Given the description of an element on the screen output the (x, y) to click on. 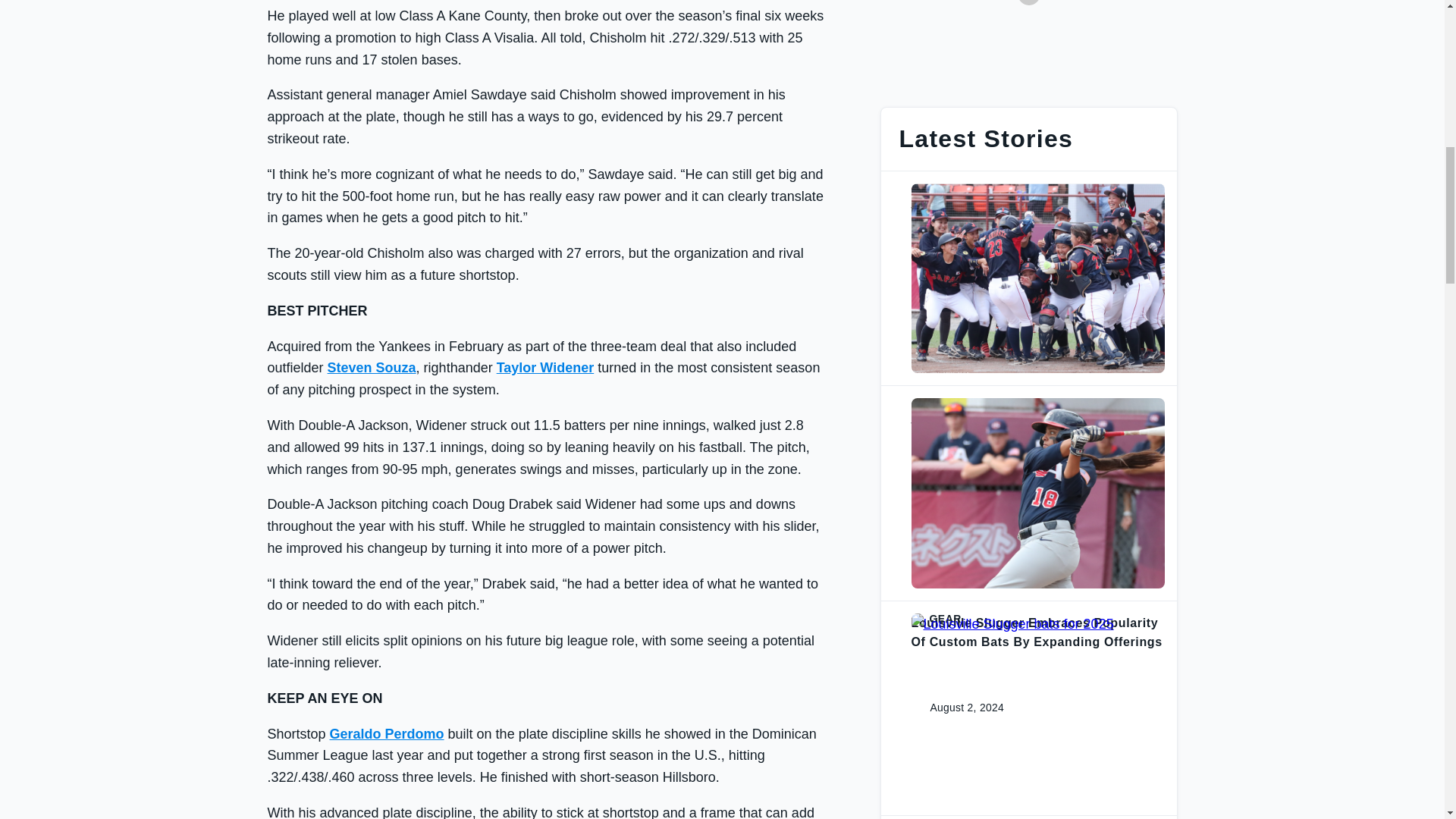
Post category (1037, 618)
Post date (954, 278)
Post date (954, 707)
Post category (1037, 188)
Post category (1037, 403)
Post date (954, 493)
